Given the description of an element on the screen output the (x, y) to click on. 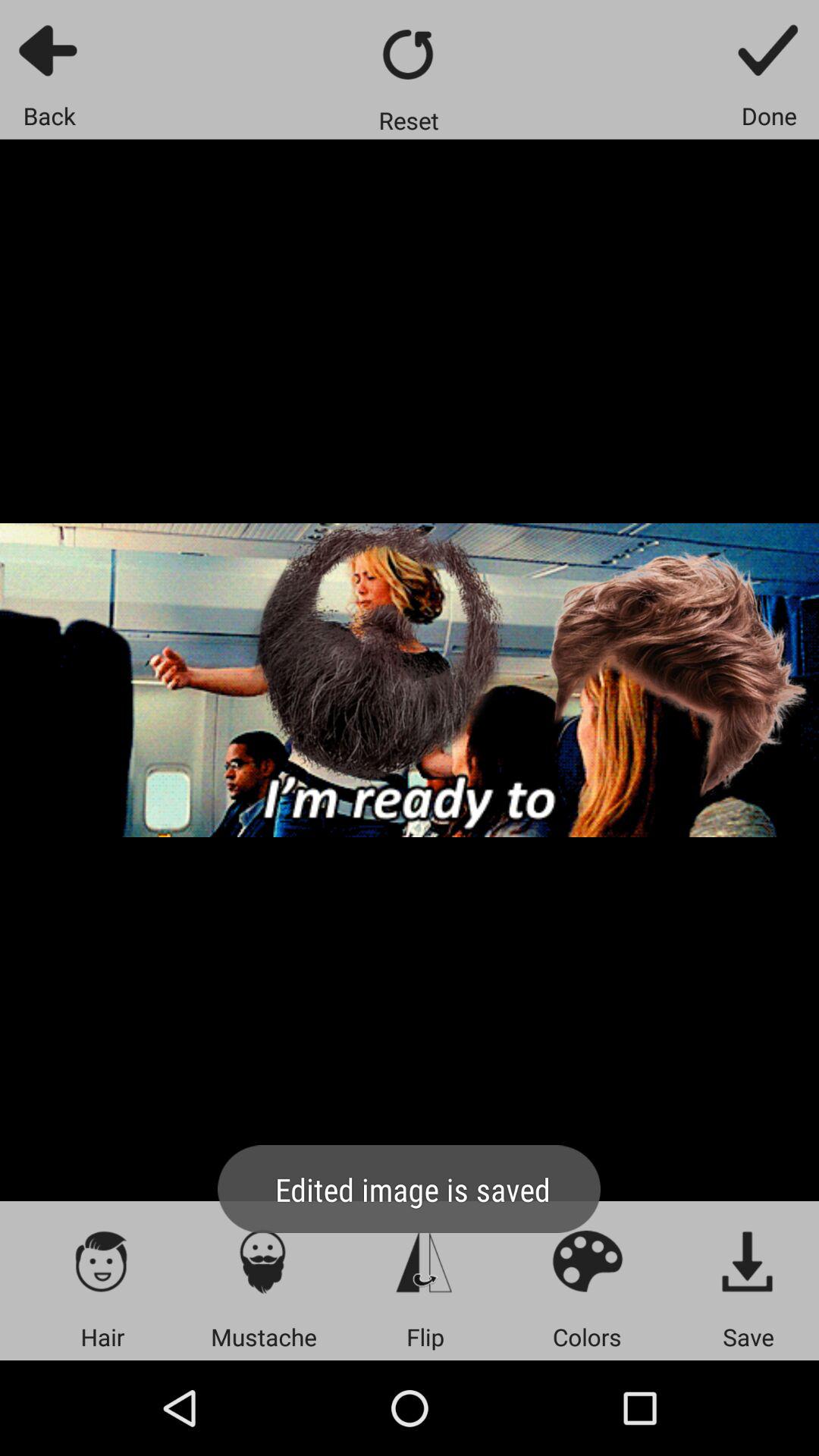
flip (425, 1260)
